Given the description of an element on the screen output the (x, y) to click on. 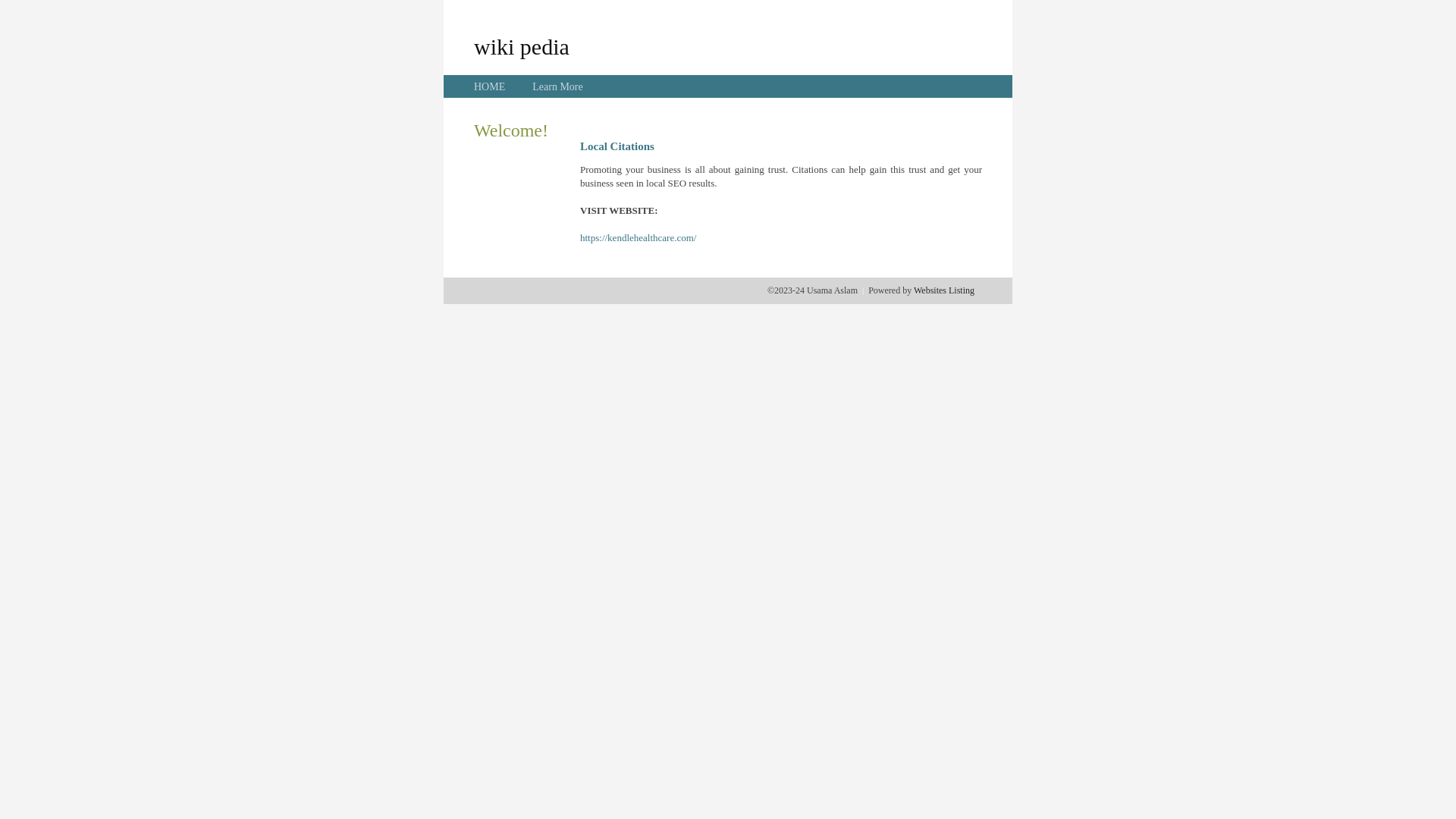
wiki pedia Element type: text (521, 46)
https://kendlehealthcare.com/ Element type: text (638, 237)
HOME Element type: text (489, 86)
Learn More Element type: text (557, 86)
Websites Listing Element type: text (943, 290)
